Given the description of an element on the screen output the (x, y) to click on. 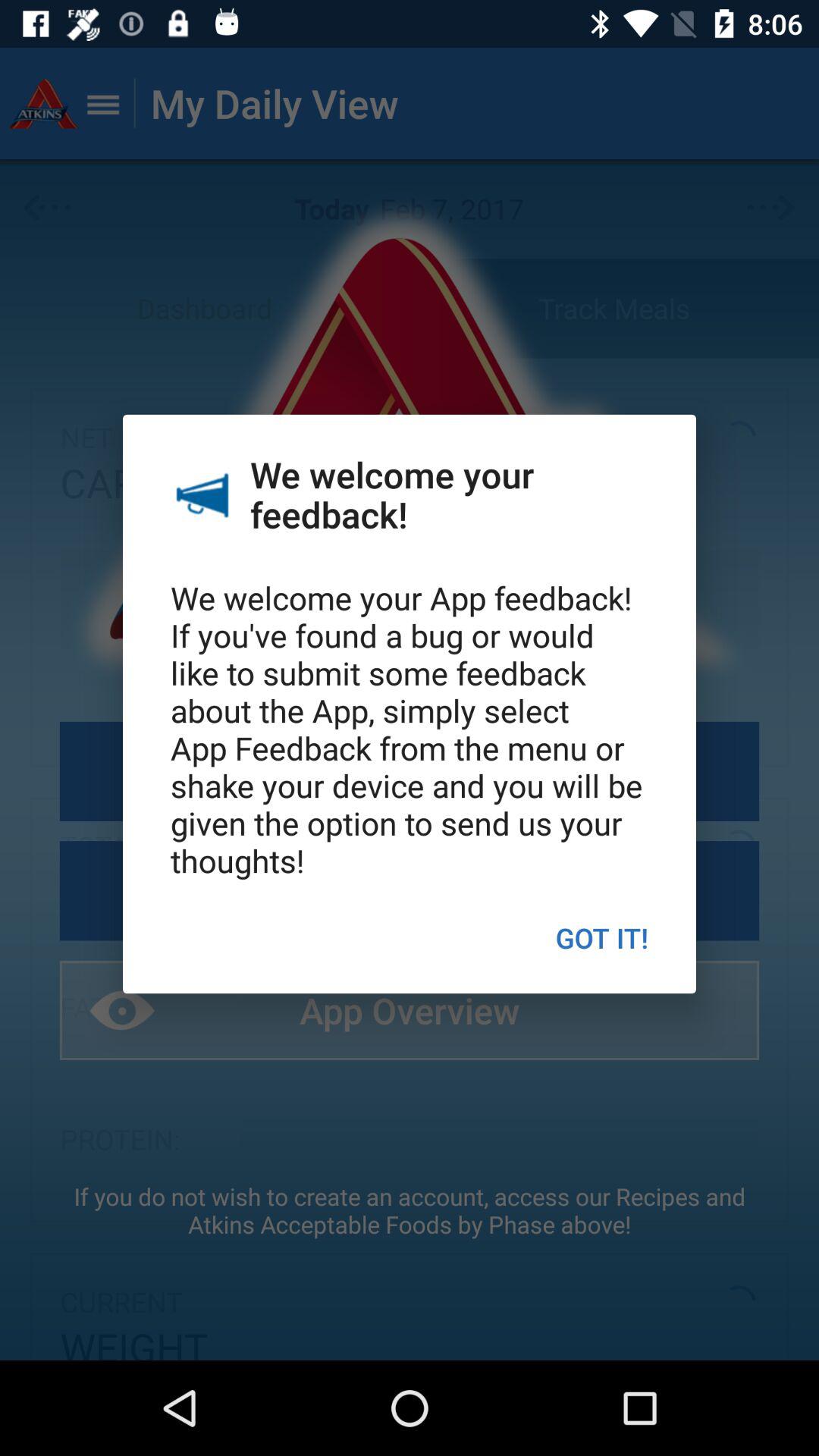
choose the got it! item (601, 937)
